Given the description of an element on the screen output the (x, y) to click on. 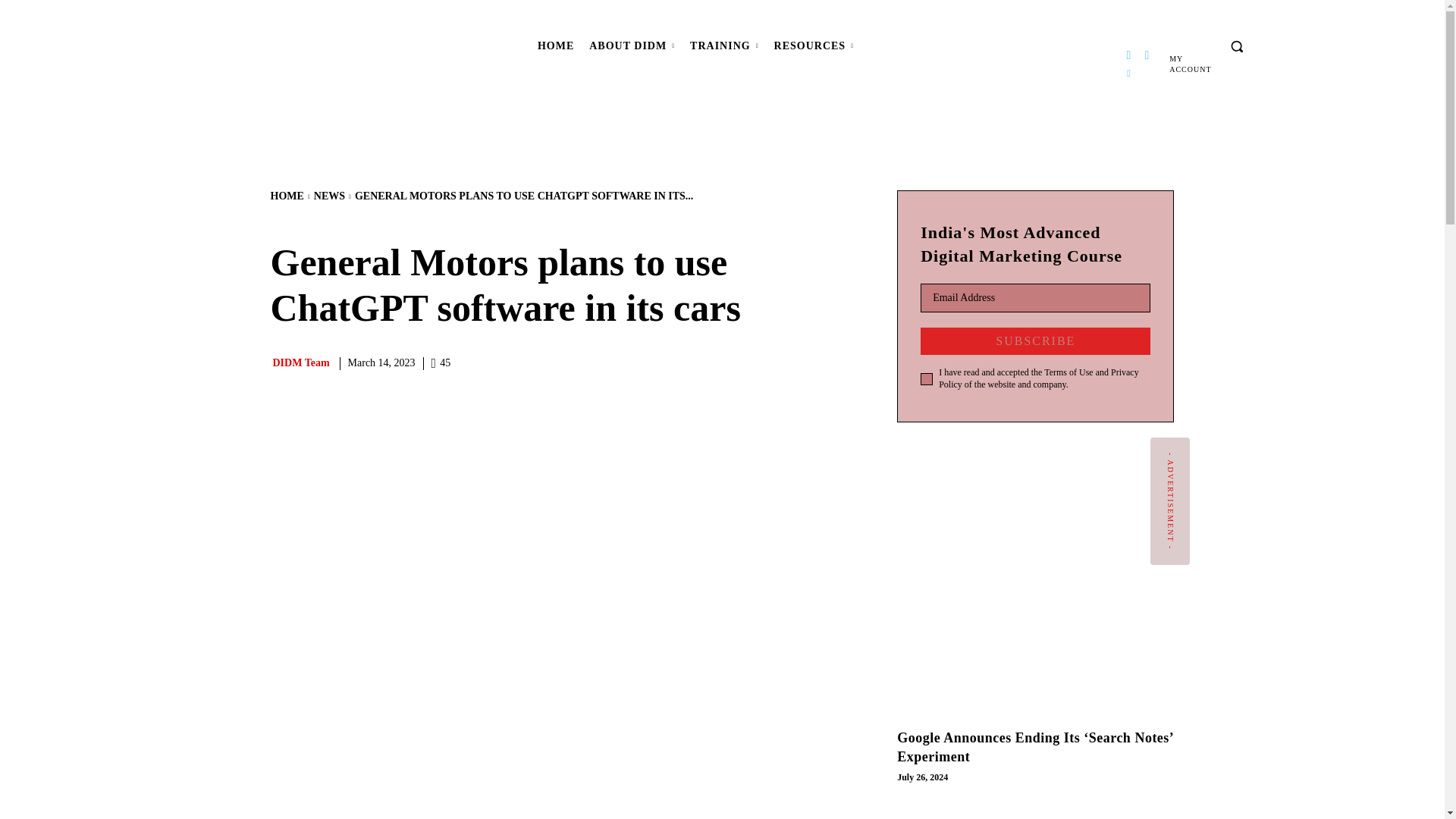
Instagram (1146, 54)
Linkedin (1128, 73)
Facebook (1128, 54)
TRAINING (724, 46)
View all posts in News (329, 195)
ABOUT DIDM (631, 46)
HOME (554, 45)
